Given the description of an element on the screen output the (x, y) to click on. 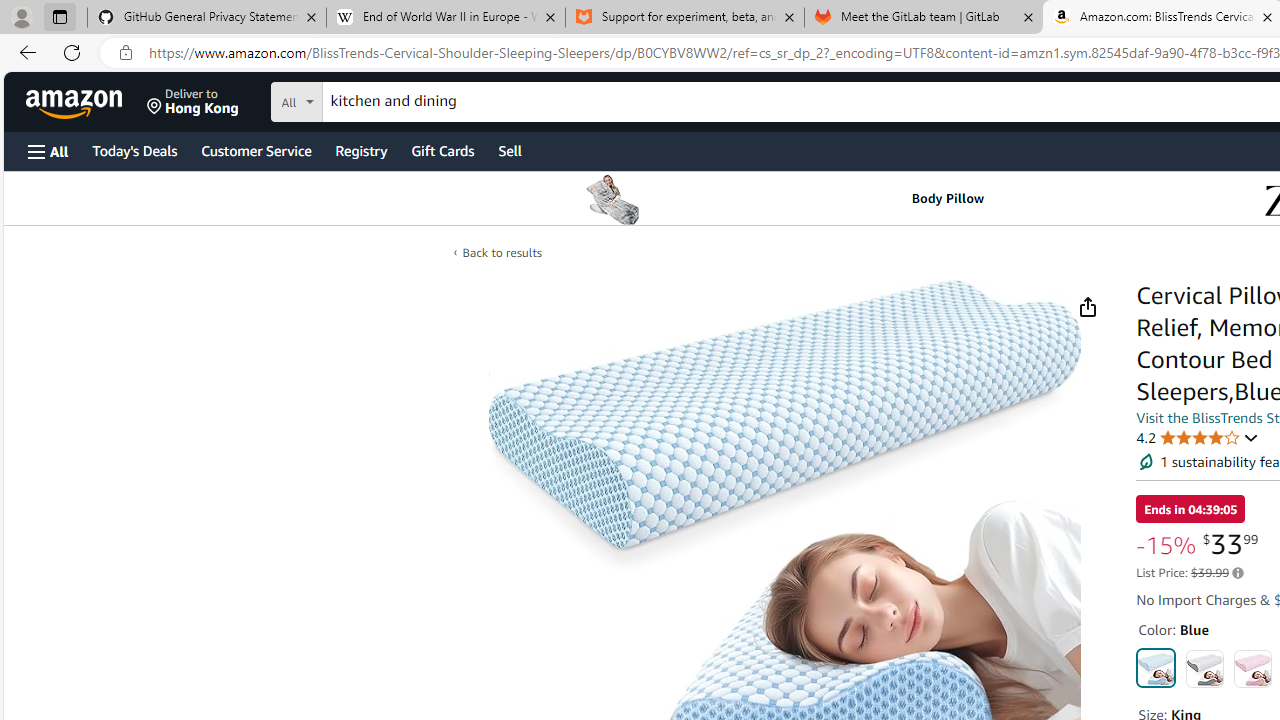
Registry (360, 150)
GitHub General Privacy Statement - GitHub Docs (207, 17)
Customer Service (256, 150)
Today's Deals (134, 150)
